Given the description of an element on the screen output the (x, y) to click on. 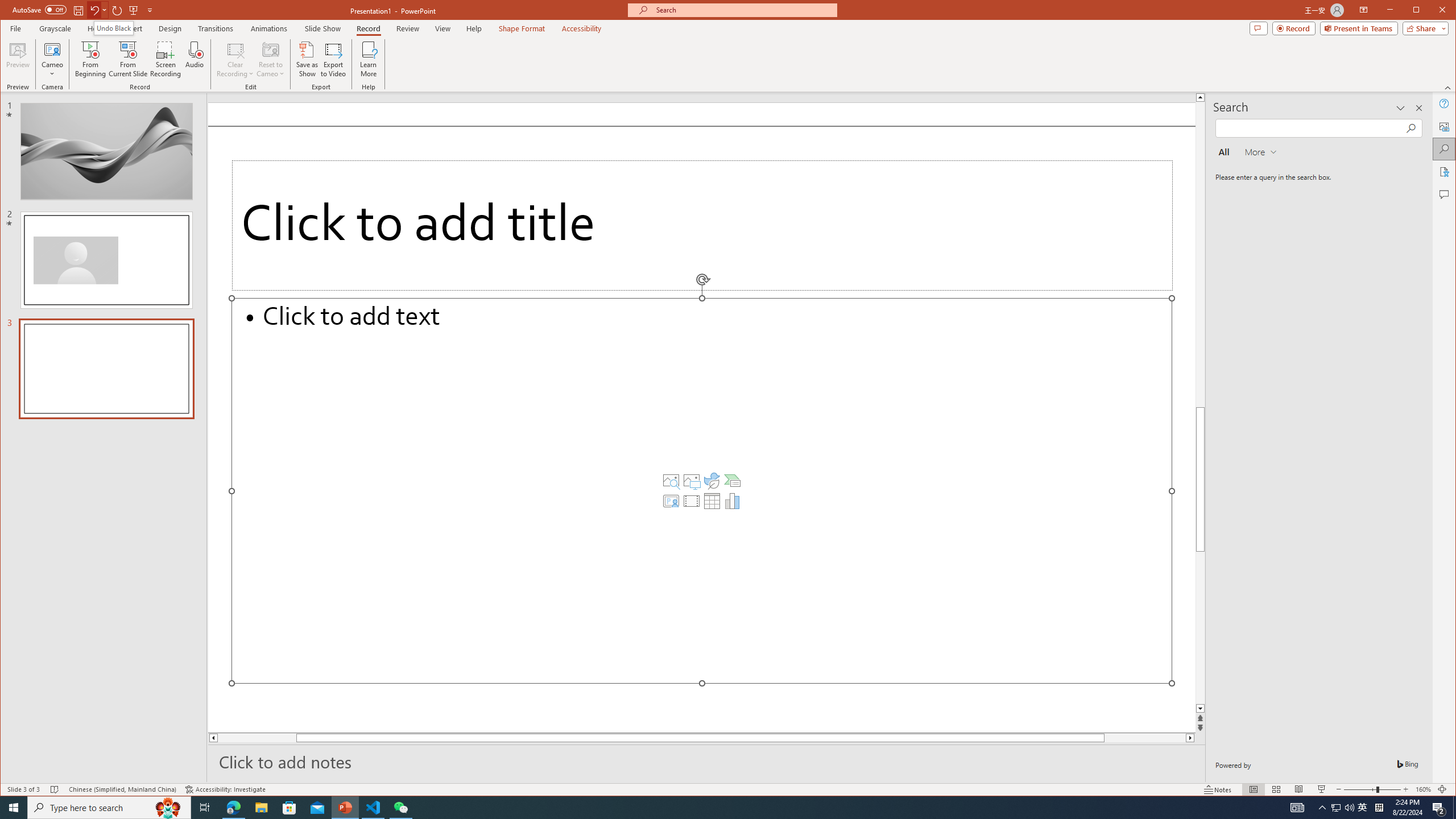
Clear Recording (234, 59)
Zoom 160% (1422, 789)
Cameo (52, 59)
Class: MsoCommandBar (728, 789)
Task Pane Options (1400, 107)
Action Center, 2 new notifications (1439, 807)
